Given the description of an element on the screen output the (x, y) to click on. 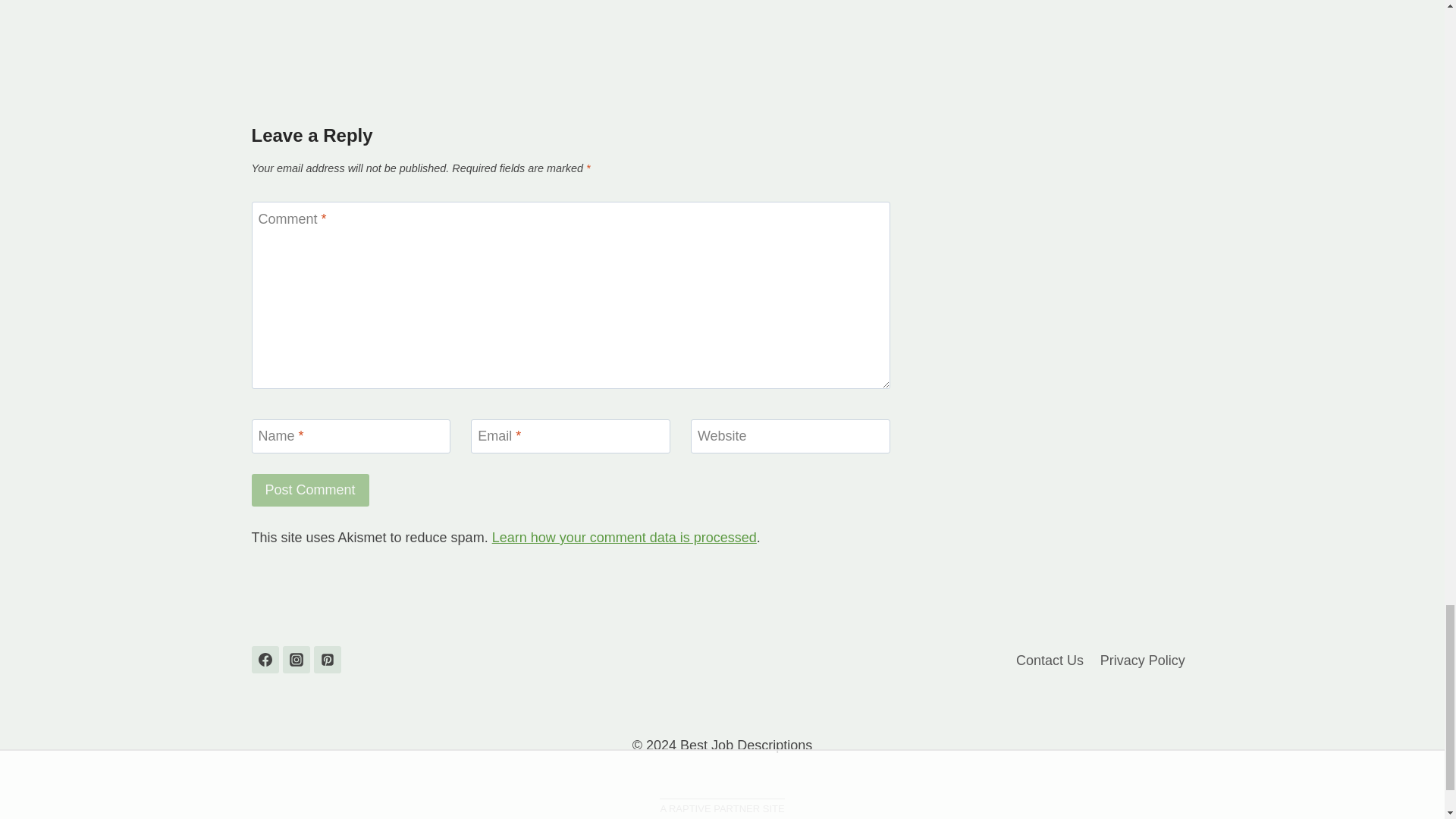
Post Comment (310, 490)
